Given the description of an element on the screen output the (x, y) to click on. 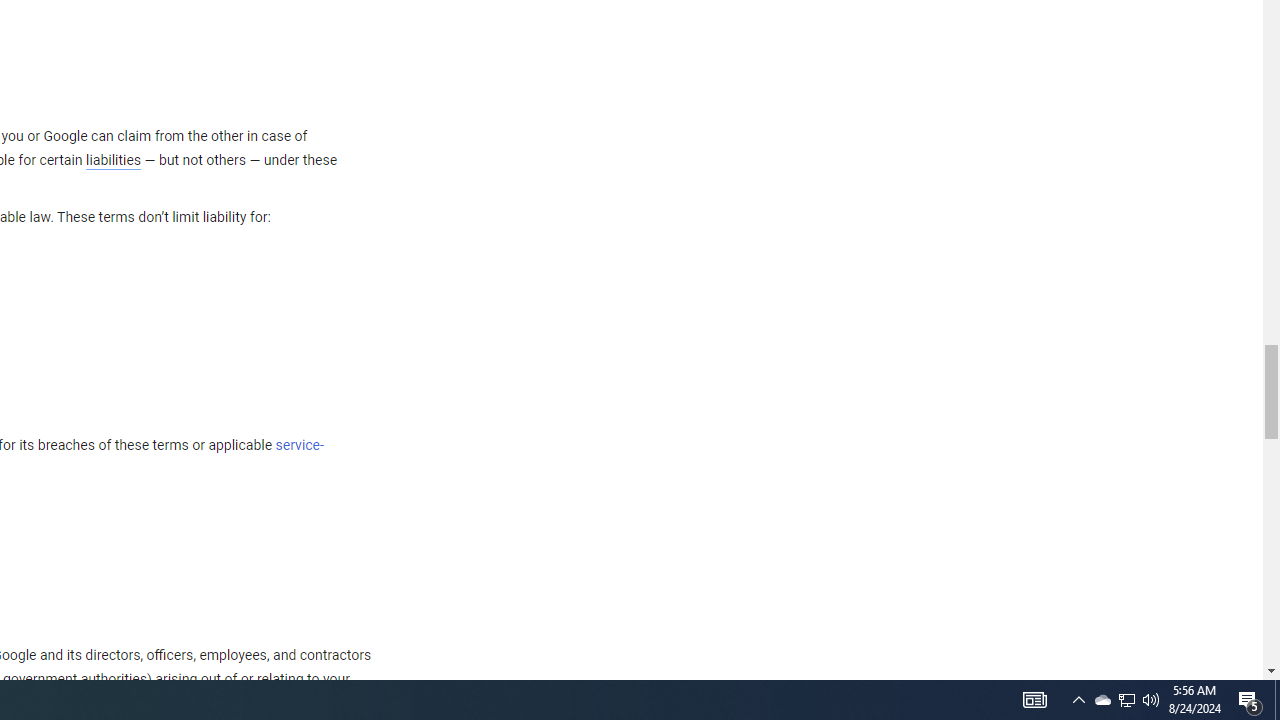
liabilities (113, 160)
